Given the description of an element on the screen output the (x, y) to click on. 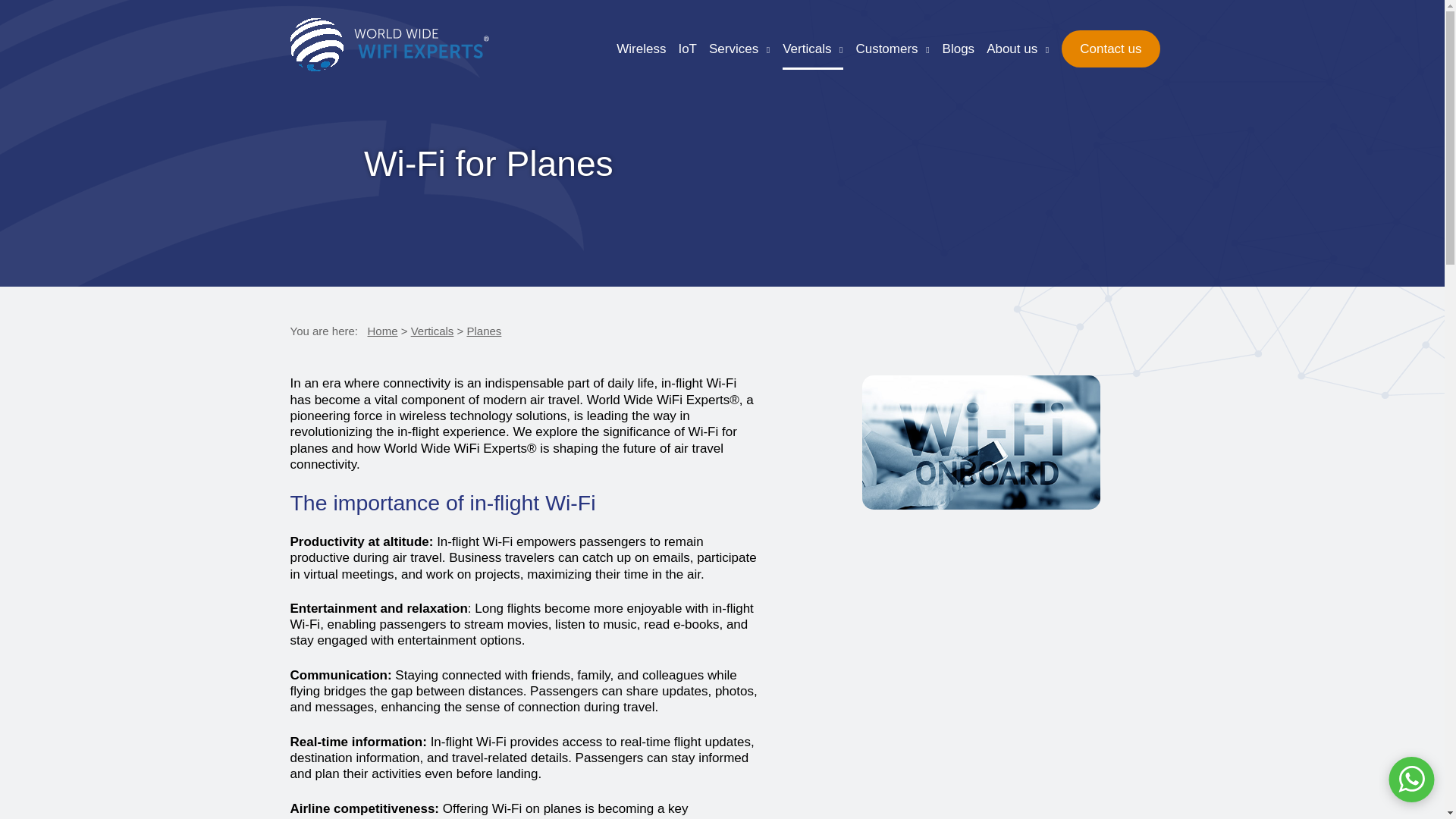
2D-GlobeGIF-animate image (315, 44)
Contact us (1109, 48)
Verticals (813, 49)
Wireless (640, 48)
Home (382, 330)
name-world-wide-wifi-experts image (415, 43)
